Given the description of an element on the screen output the (x, y) to click on. 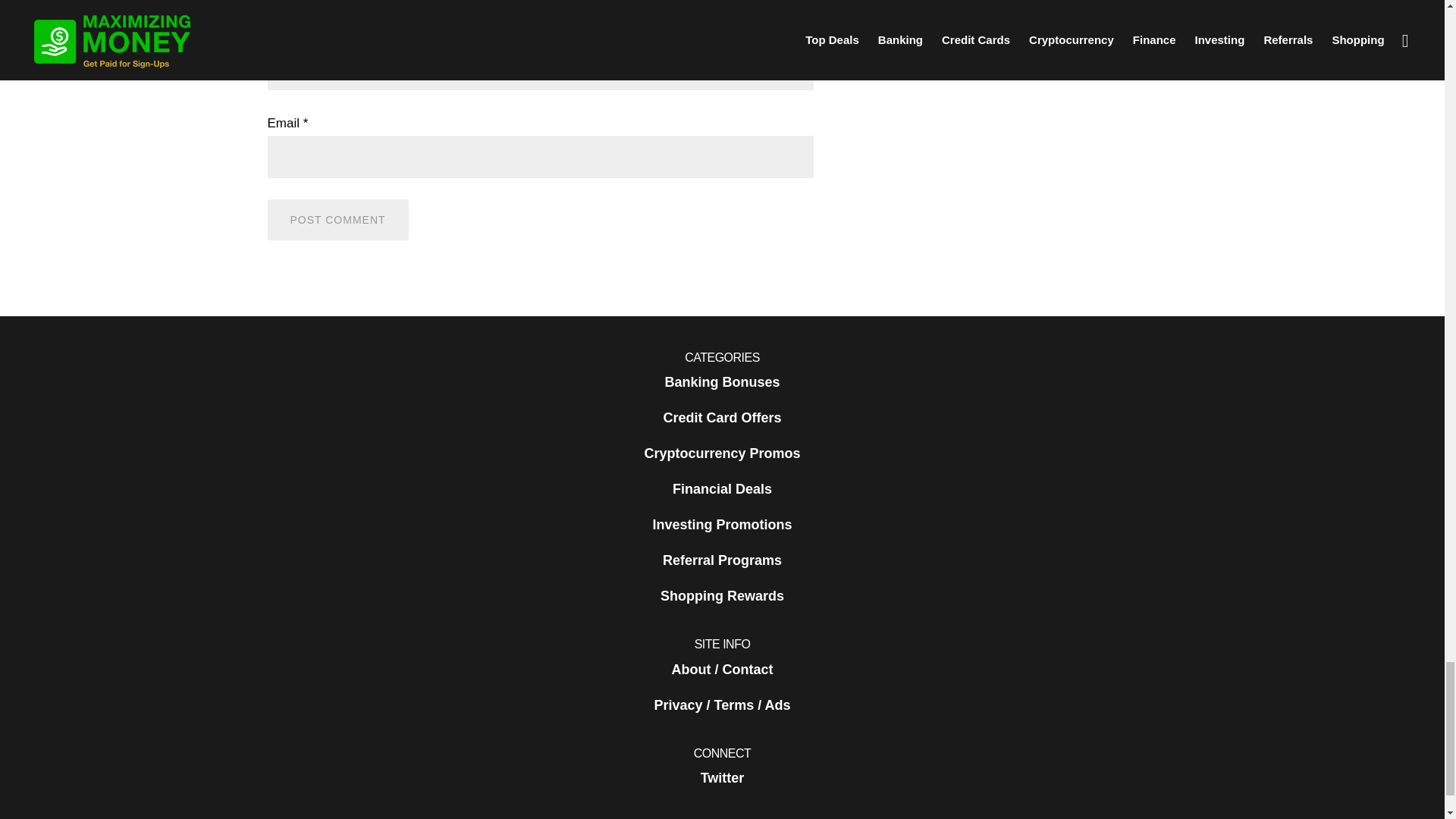
Referral Programs (721, 560)
Financial Deals (721, 489)
Credit Card Offers (721, 417)
Cryptocurrency Promos (721, 453)
Banking Bonuses (720, 382)
Post Comment (336, 219)
Banking Bonuses (720, 382)
Investing Promotions (722, 524)
Post Comment (336, 219)
Financial Deals (721, 489)
